Given the description of an element on the screen output the (x, y) to click on. 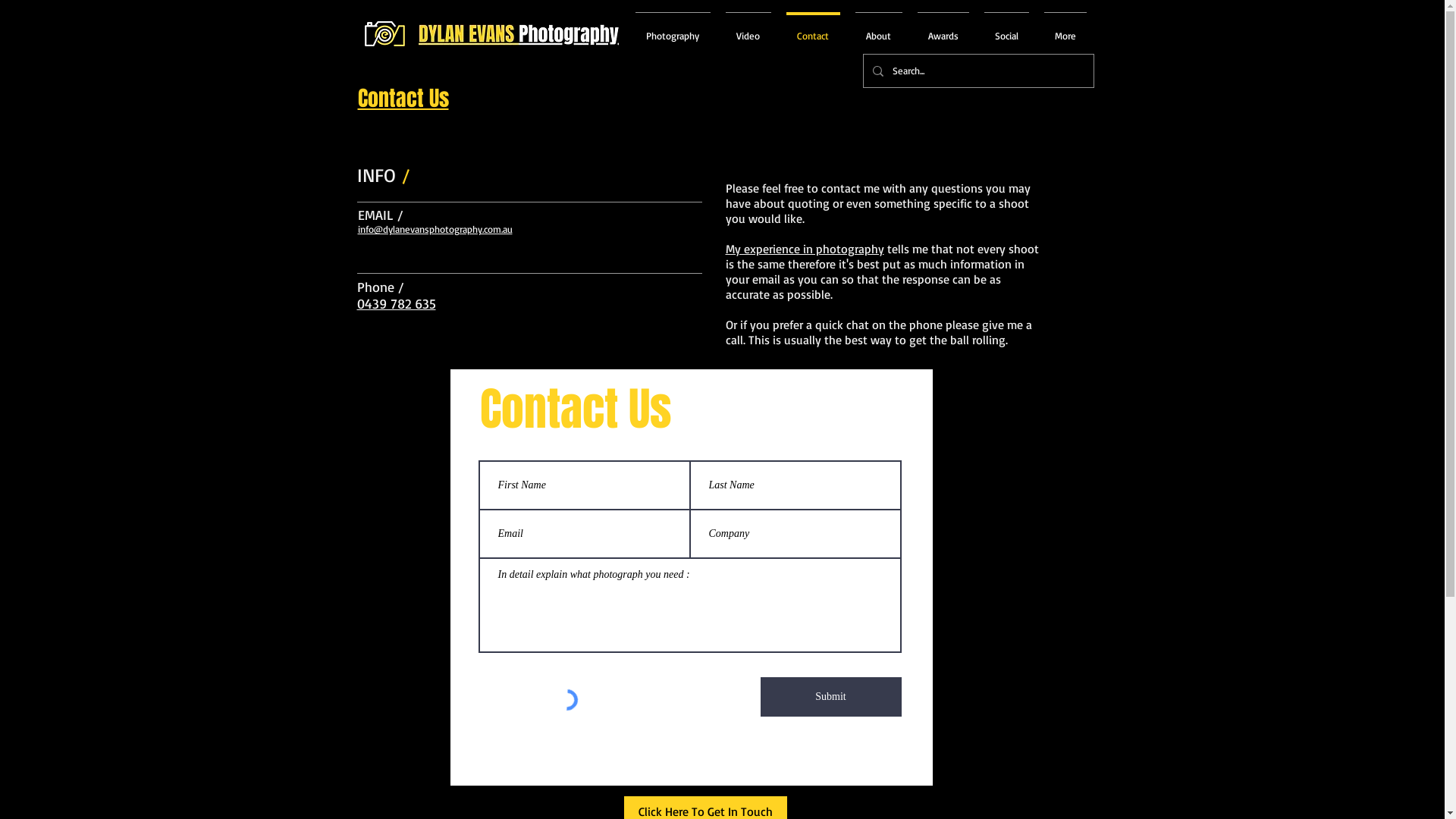
Awards Element type: text (943, 28)
info@dylanevansphotography.com.au Element type: text (434, 228)
My experience in photography Element type: text (803, 248)
Contact Element type: text (812, 28)
Video Element type: text (747, 28)
Photography Element type: text (672, 28)
0439 782 635 Element type: text (395, 302)
Submit Element type: text (829, 696)
About Element type: text (878, 28)
Social Element type: text (1006, 28)
Contact Us Element type: text (402, 97)
